Given the description of an element on the screen output the (x, y) to click on. 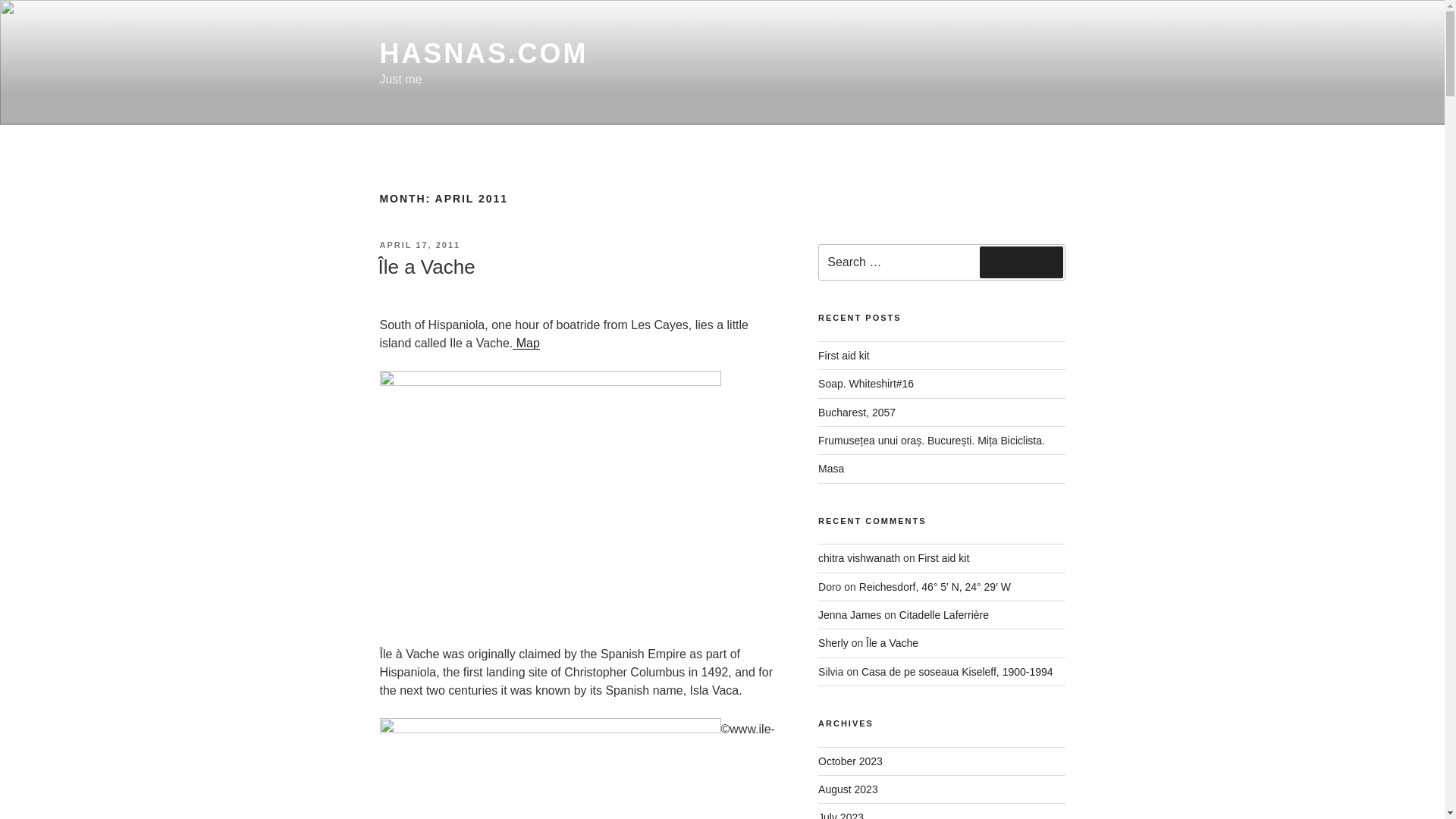
Search (1020, 262)
Bucharest, 2057 (856, 412)
chitra vishwanath (858, 558)
Jenna James (849, 614)
Casa de pe soseaua Kiseleff, 1900-1994 (956, 671)
Masa (831, 468)
Map (526, 342)
First aid kit (843, 355)
First aid kit (943, 558)
Sherly (833, 643)
